Given the description of an element on the screen output the (x, y) to click on. 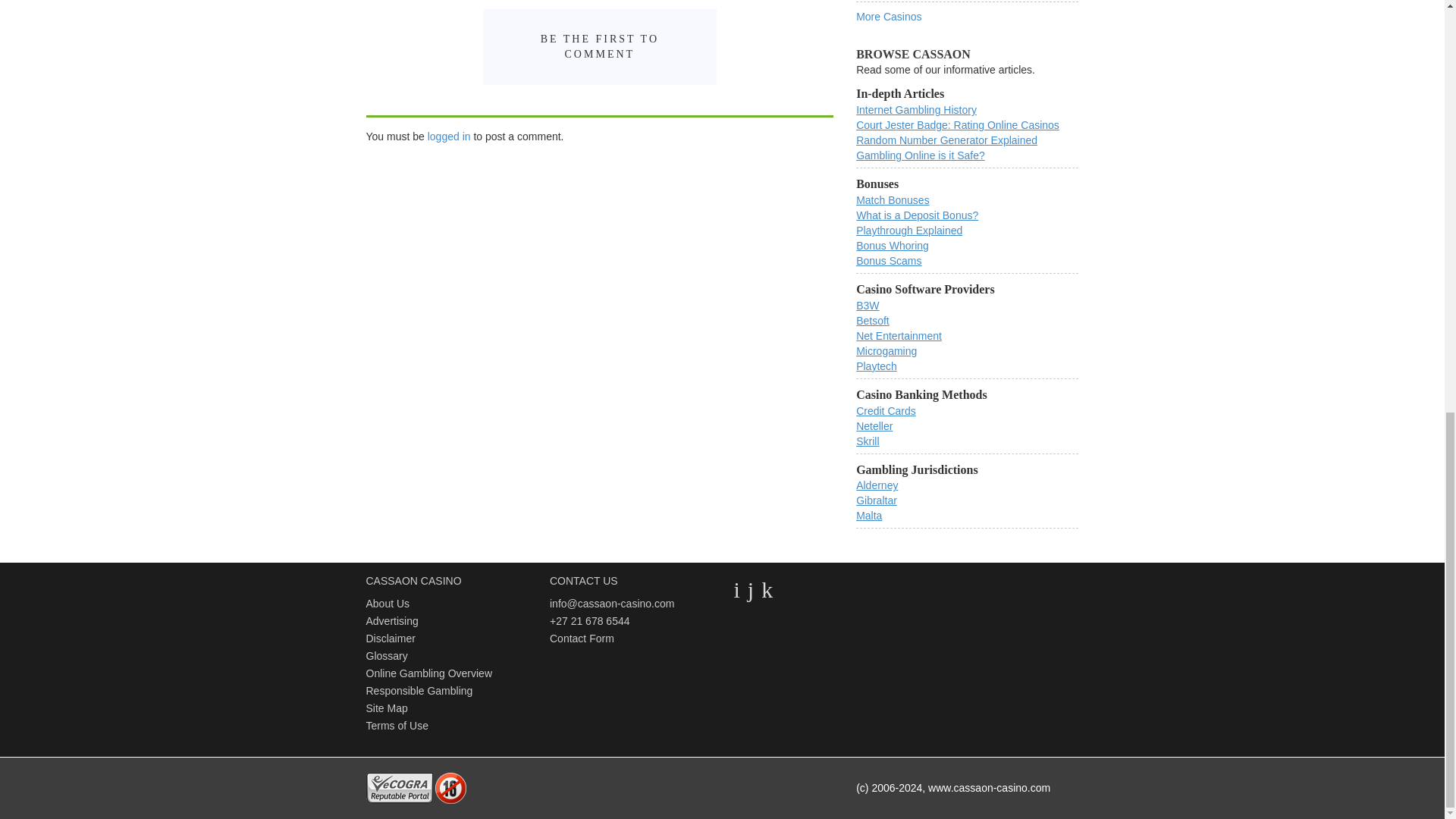
Follow Us on Facebook (751, 589)
Follow Us On Twitter (736, 589)
logged in (449, 136)
Like Us gplus (767, 589)
